Given the description of an element on the screen output the (x, y) to click on. 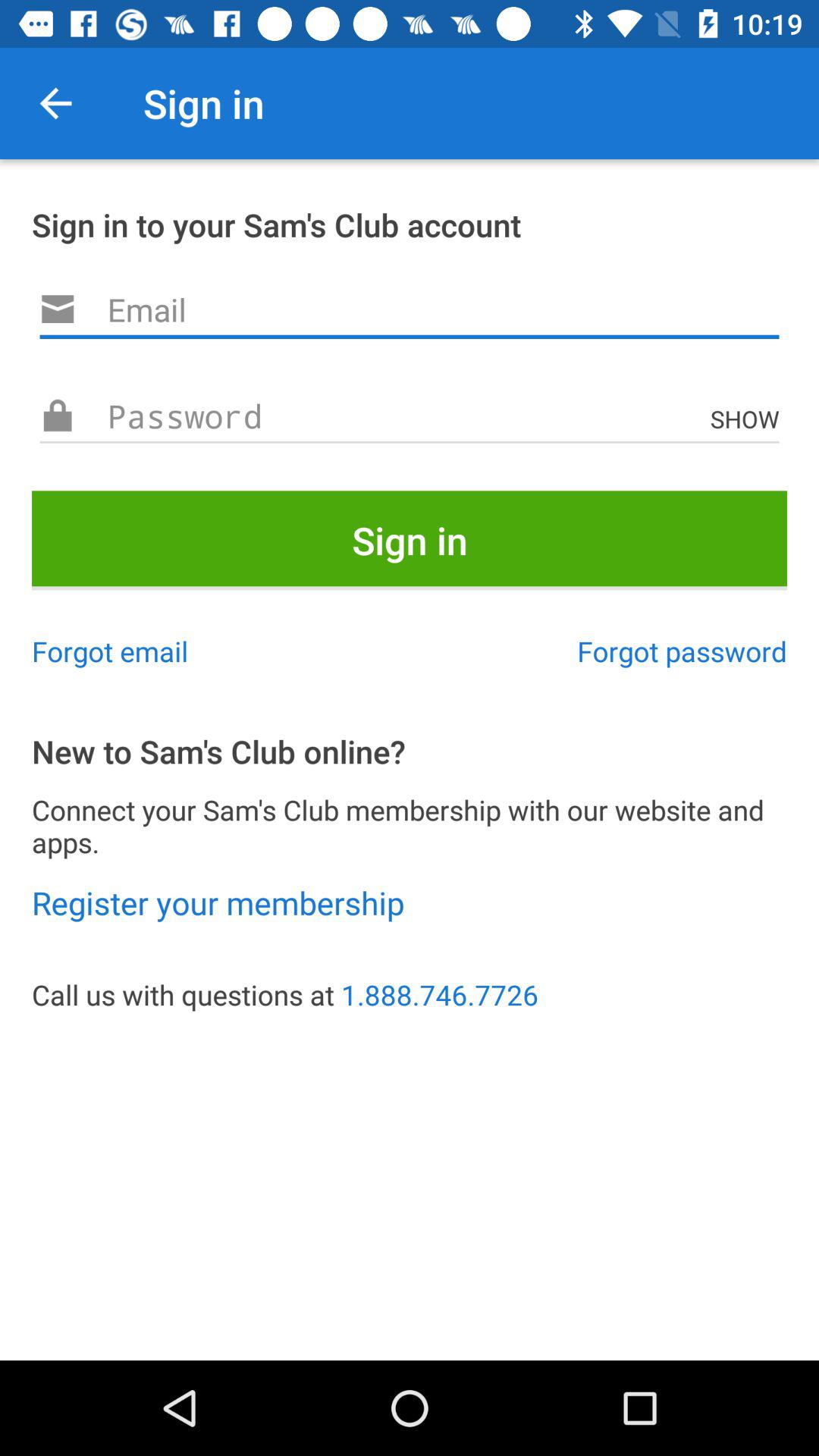
tap the call us with icon (409, 994)
